Given the description of an element on the screen output the (x, y) to click on. 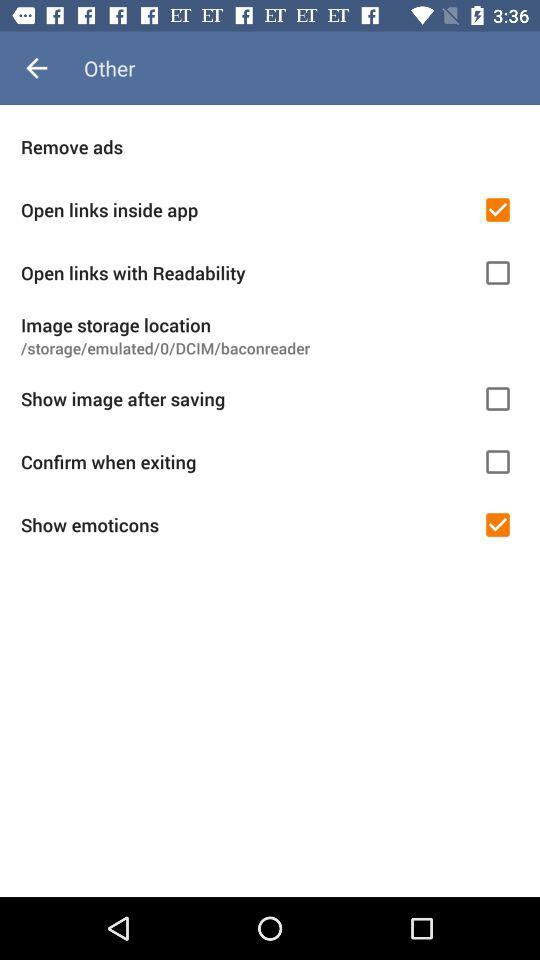
tap the show emoticons icon (245, 524)
